Given the description of an element on the screen output the (x, y) to click on. 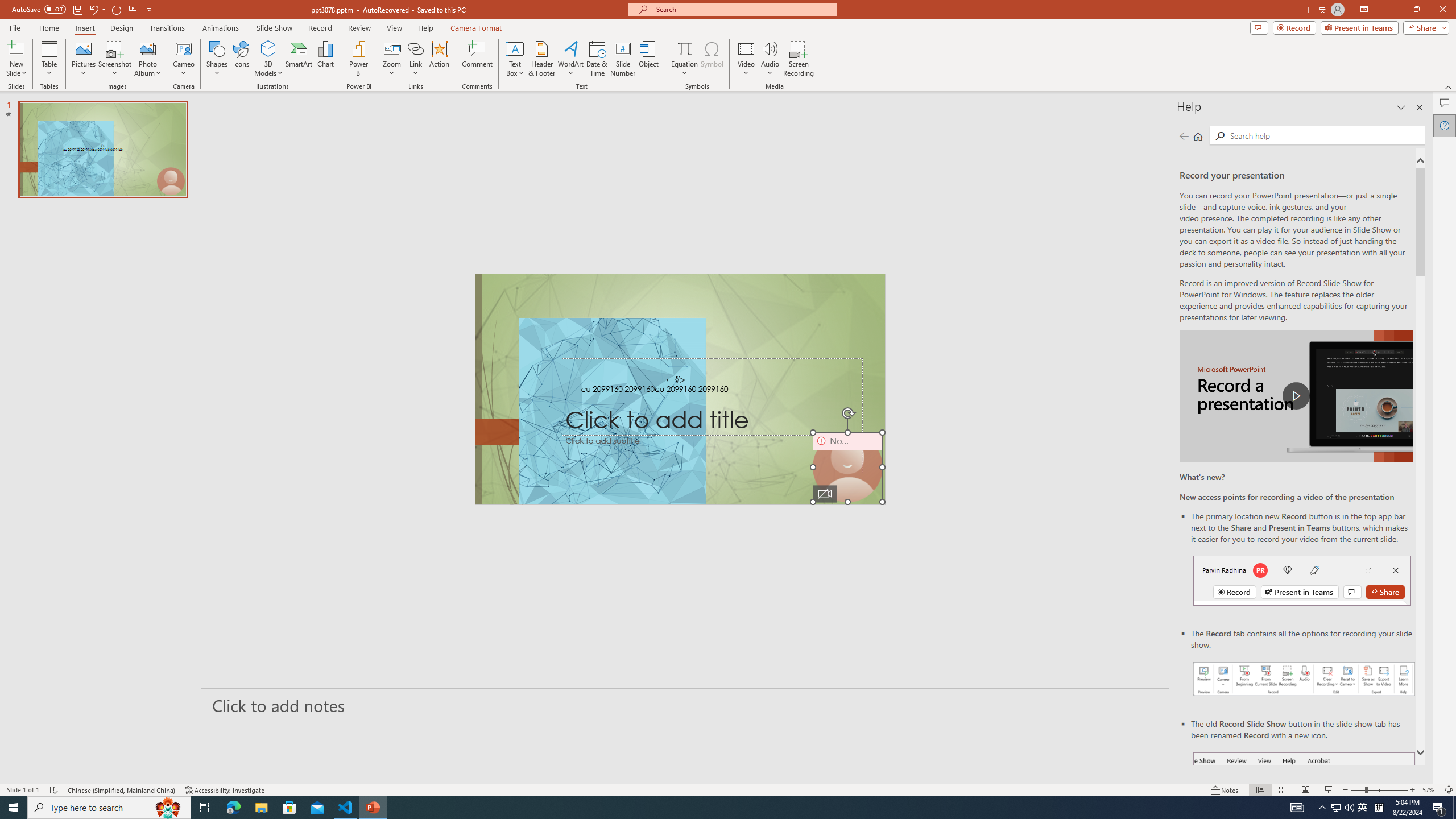
Comment (476, 58)
Zoom 57% (1430, 790)
Photo Album... (147, 58)
WordArt (570, 58)
